Given the description of an element on the screen output the (x, y) to click on. 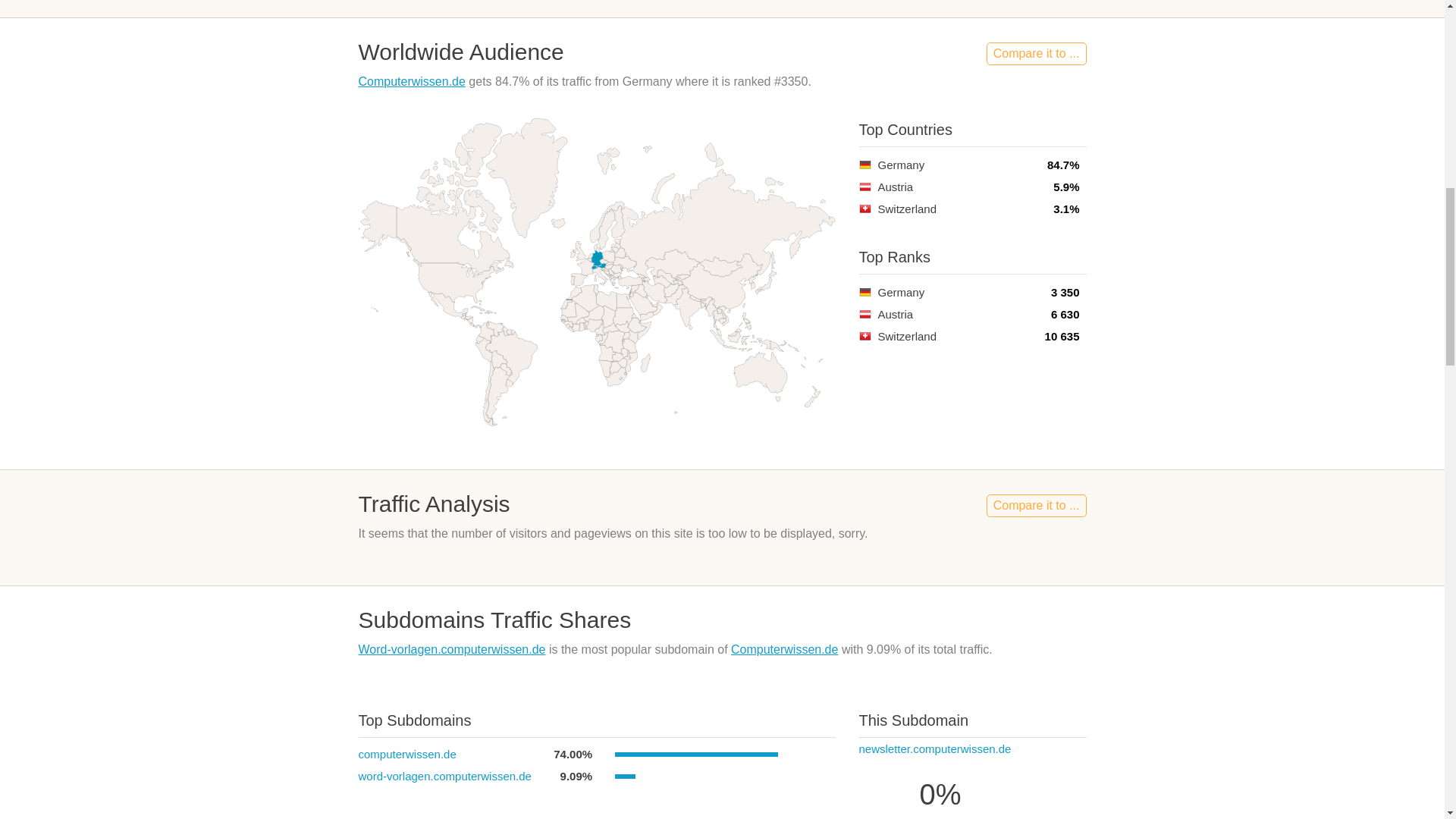
Germany (864, 292)
word-vorlagen.computerwissen.de (444, 775)
Compare it to ... (1036, 505)
Austria (864, 314)
Computerwissen.de (784, 649)
Austria (864, 186)
Switzerland (864, 208)
Switzerland (864, 336)
Germany (864, 164)
Computerwissen.de (411, 81)
Word-vorlagen.computerwissen.de (451, 649)
newsletter.computerwissen.de (934, 748)
Compare it to ... (1036, 53)
computerwissen.de (406, 753)
